Given the description of an element on the screen output the (x, y) to click on. 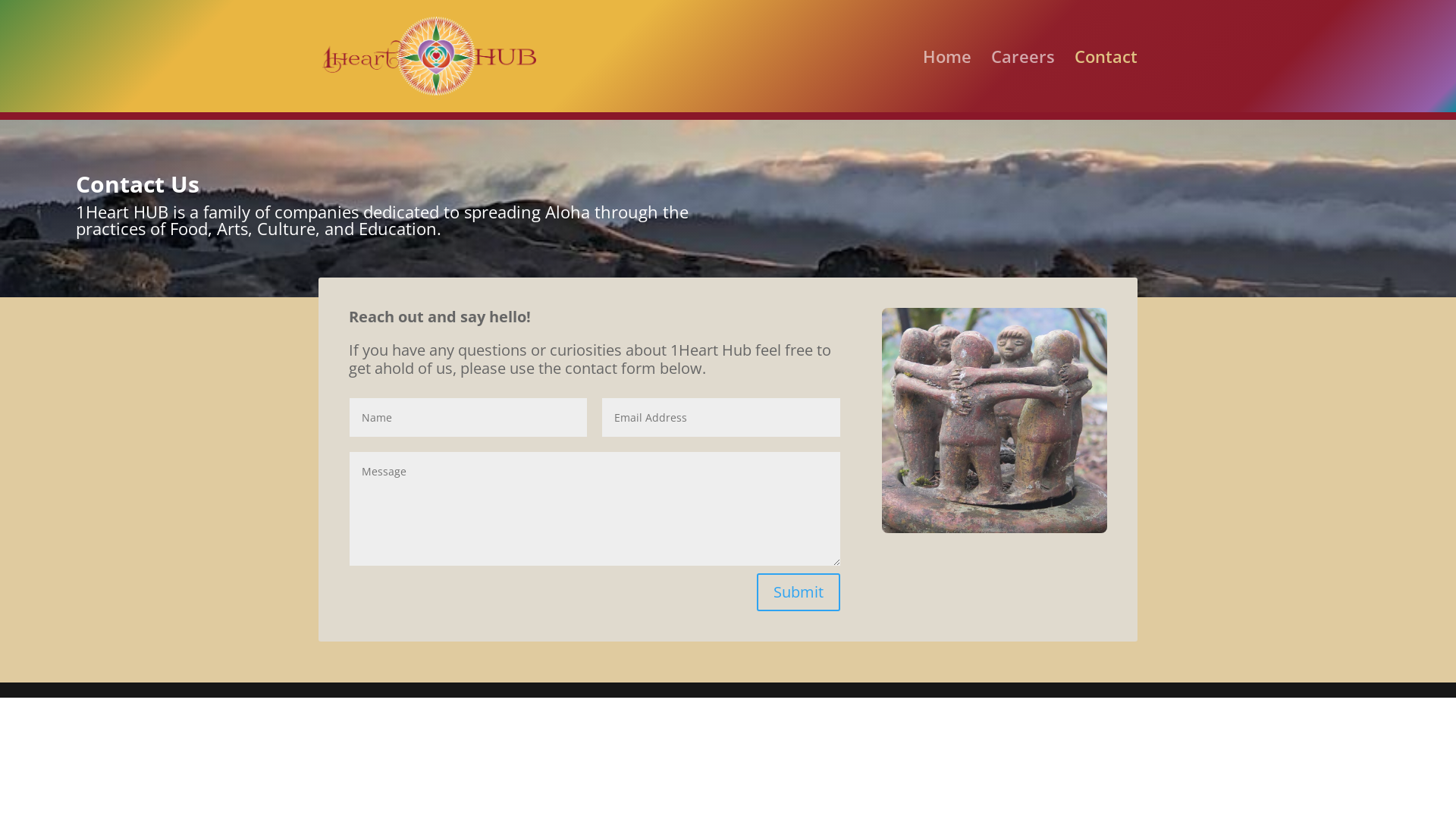
hug Element type: hover (994, 420)
Careers Element type: text (1022, 81)
Contact Element type: text (1105, 81)
Home Element type: text (946, 81)
Submit Element type: text (798, 592)
